Given the description of an element on the screen output the (x, y) to click on. 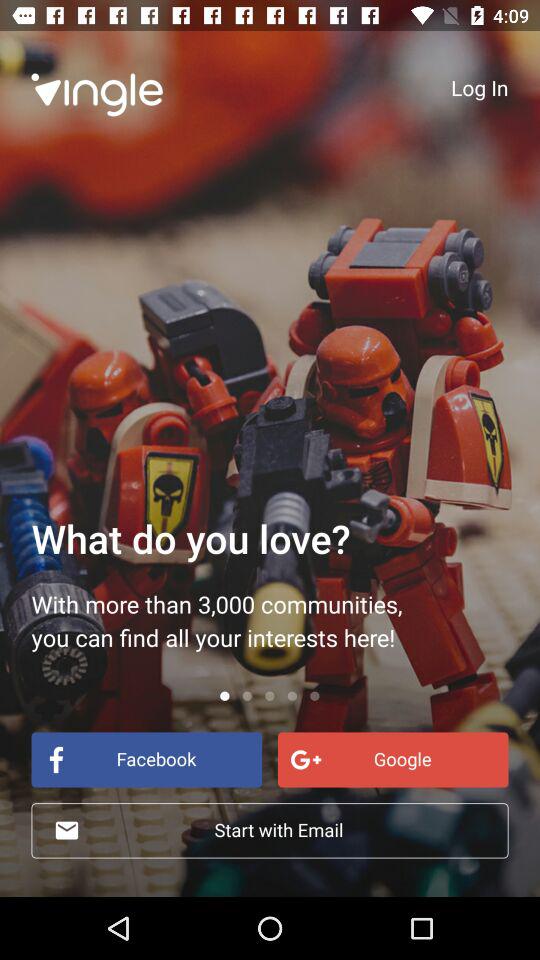
tap item above start with email (392, 759)
